Given the description of an element on the screen output the (x, y) to click on. 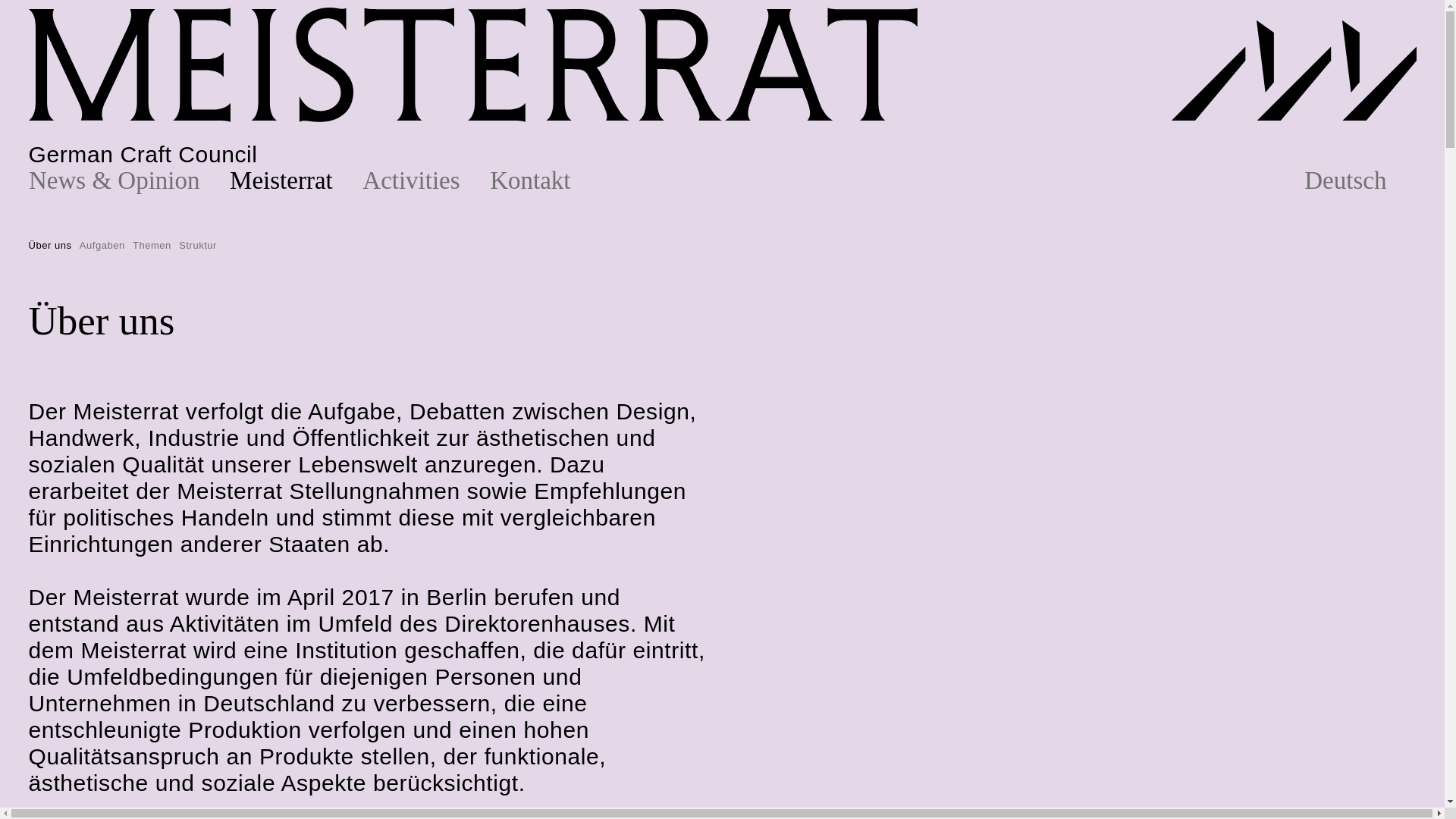
Kontakt (544, 180)
Activities (425, 180)
Themen (151, 244)
Deutsch (1360, 180)
Struktur (197, 244)
Aufgaben (102, 244)
Meisterrat (296, 180)
Meisterrat (296, 180)
Activities (425, 180)
Kontakt (544, 180)
Deutsch (1360, 180)
